Given the description of an element on the screen output the (x, y) to click on. 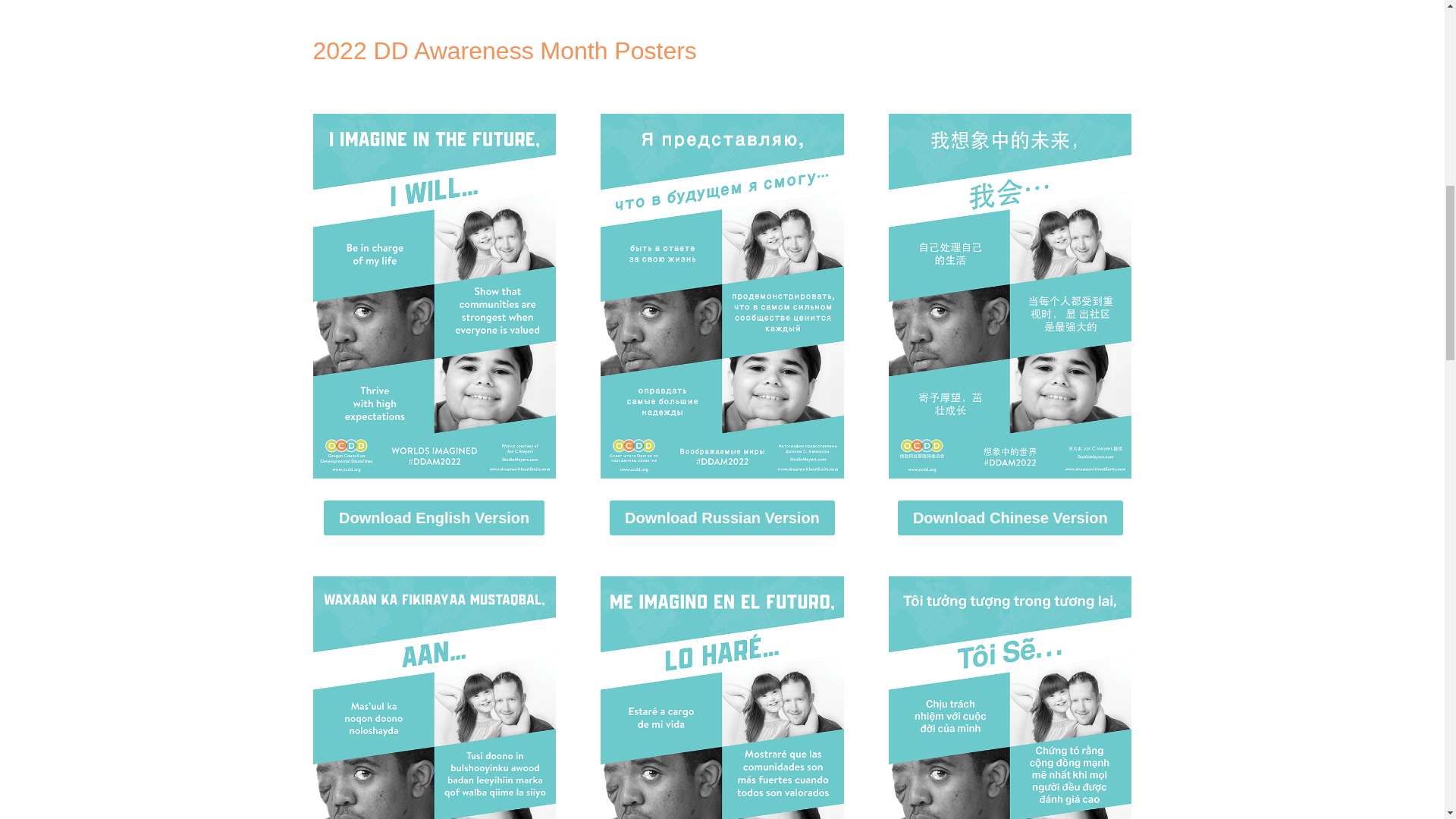
OCDD-DD-Awareness-Month-Poster-SO-220330 (433, 697)
OCDD-DD-Awareness-Month-Poster-VI-220330 (1009, 697)
OCDD-DD-Awareness-Month-Poster-SP-220330 (721, 697)
